Given the description of an element on the screen output the (x, y) to click on. 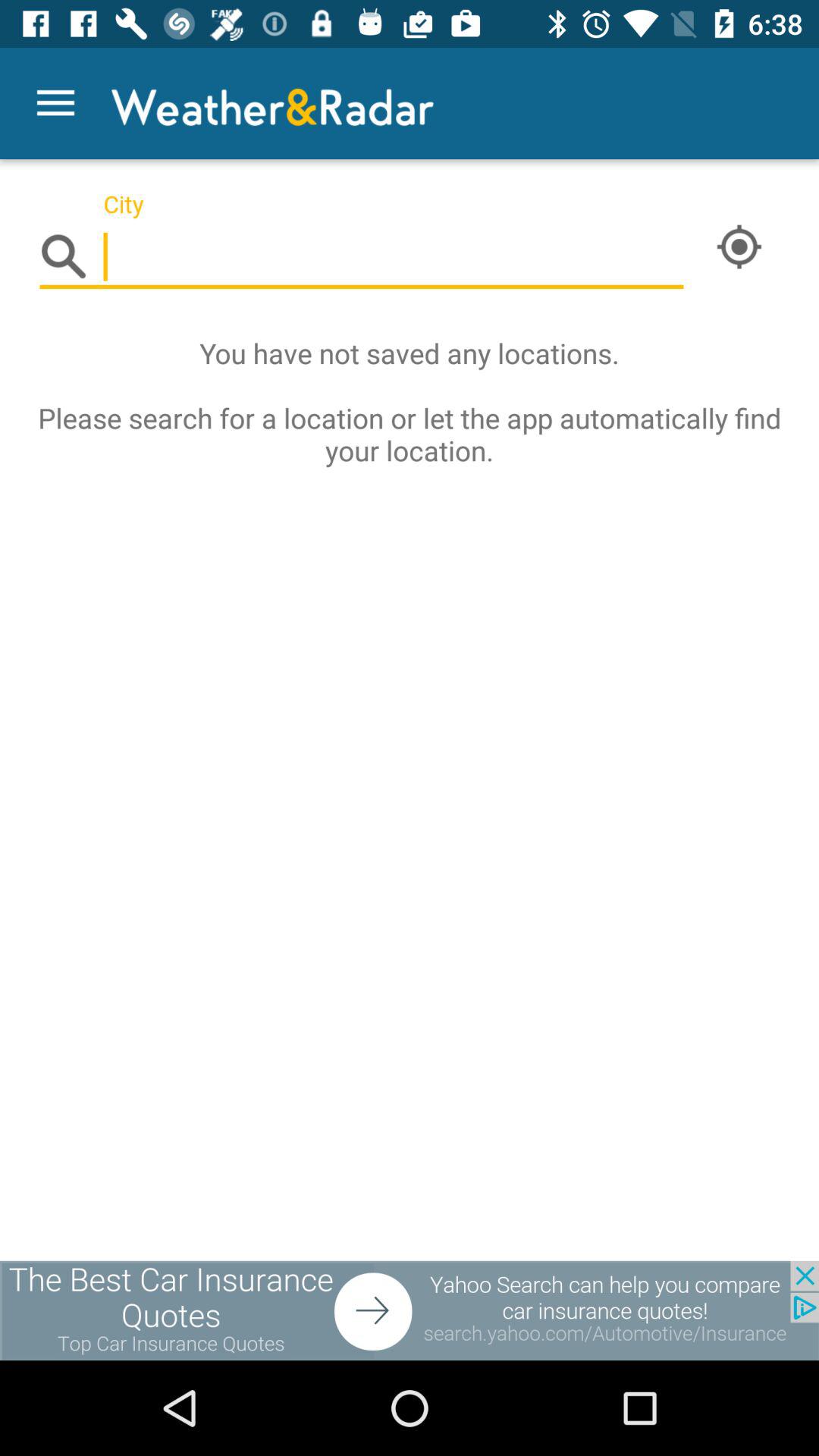
search locations (361, 257)
